Given the description of an element on the screen output the (x, y) to click on. 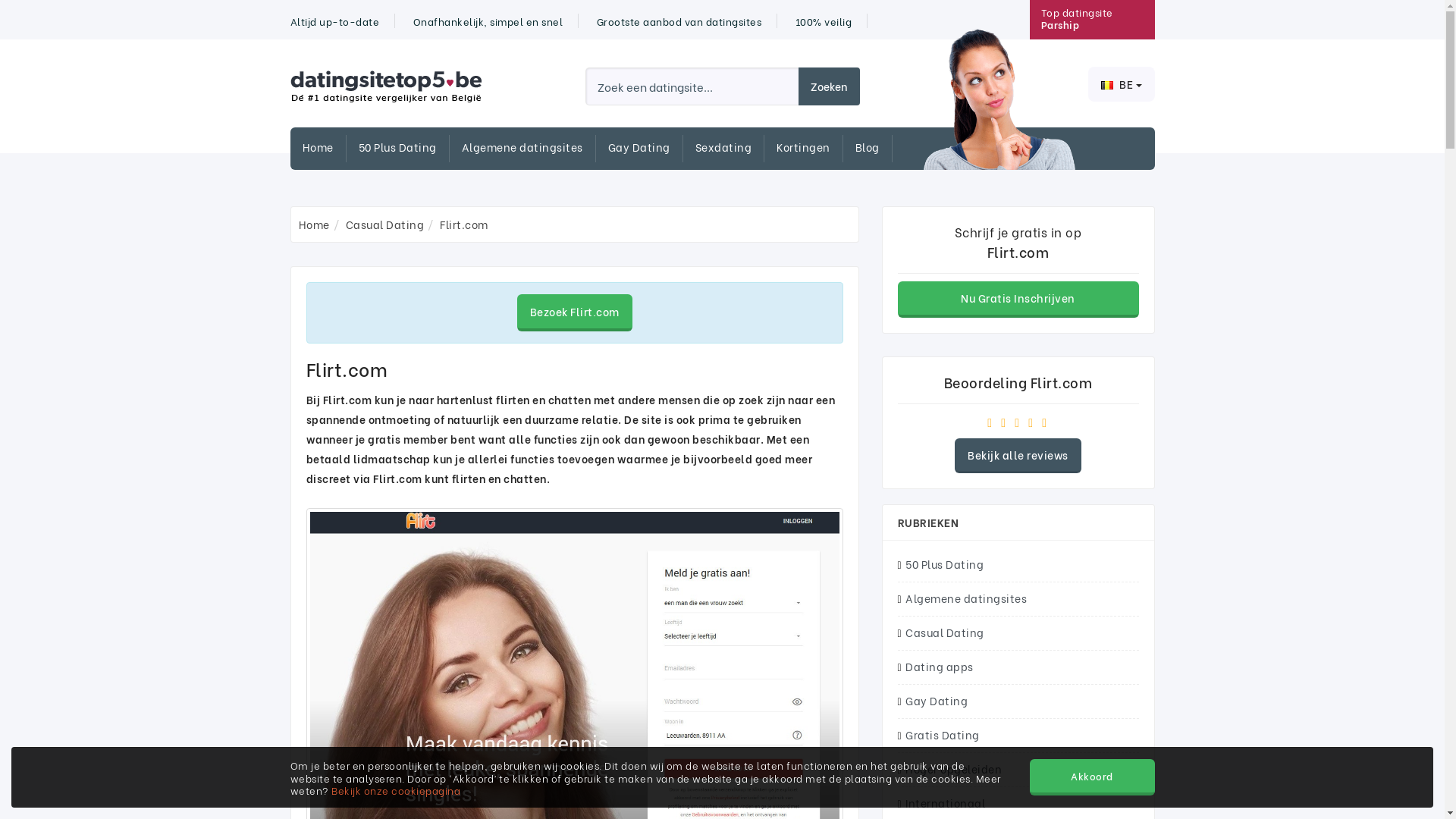
50 Plus Dating Element type: text (1018, 564)
Dating apps Element type: text (1018, 666)
Bekijk onze cookiepagina Element type: text (395, 789)
Gay Dating Element type: text (1018, 701)
Home Element type: text (313, 224)
Algemene datingsites Element type: text (1018, 598)
Hoger opgeleiden Element type: text (1018, 769)
Sexdating Element type: text (729, 148)
Blog Element type: text (873, 148)
Top datingsite
Parship Element type: text (1076, 17)
Casual Dating Element type: text (1018, 632)
Nu Gratis Inschrijven Element type: text (1018, 299)
Internationaal Element type: text (1018, 803)
Flirt.com Element type: text (463, 224)
BE Element type: text (1120, 83)
Gratis Dating Element type: text (1018, 735)
50 Plus Dating Element type: text (402, 148)
Bezoek Flirt.com Element type: text (574, 312)
Casual Dating Element type: text (384, 224)
Bekijk alle reviews Element type: text (1017, 455)
Zoeken Element type: text (828, 86)
Home Element type: text (323, 148)
Algemene datingsites Element type: text (528, 148)
Kortingen Element type: text (809, 148)
Gay Dating Element type: text (645, 148)
